Given the description of an element on the screen output the (x, y) to click on. 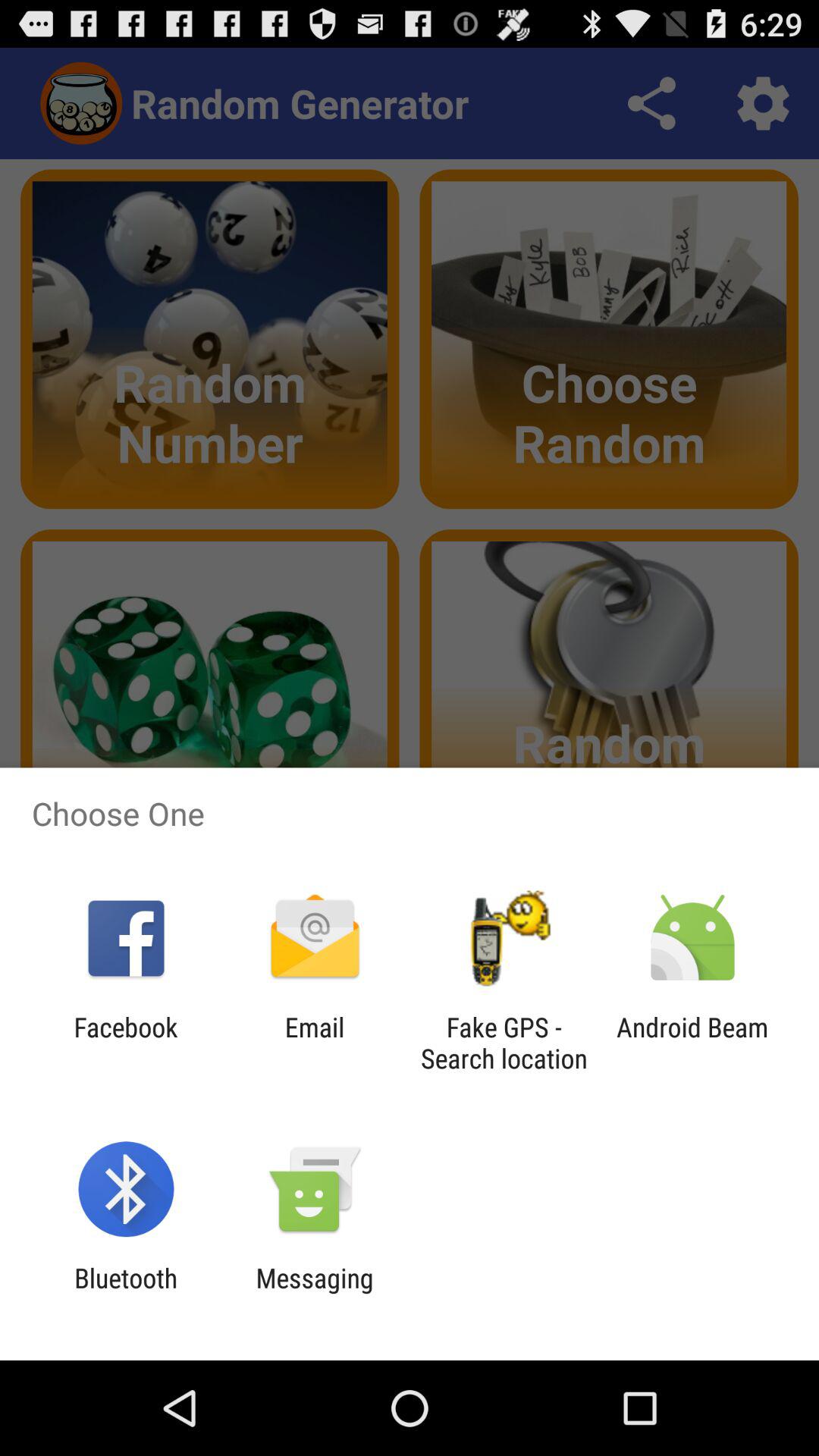
tap icon next to the fake gps search app (314, 1042)
